Given the description of an element on the screen output the (x, y) to click on. 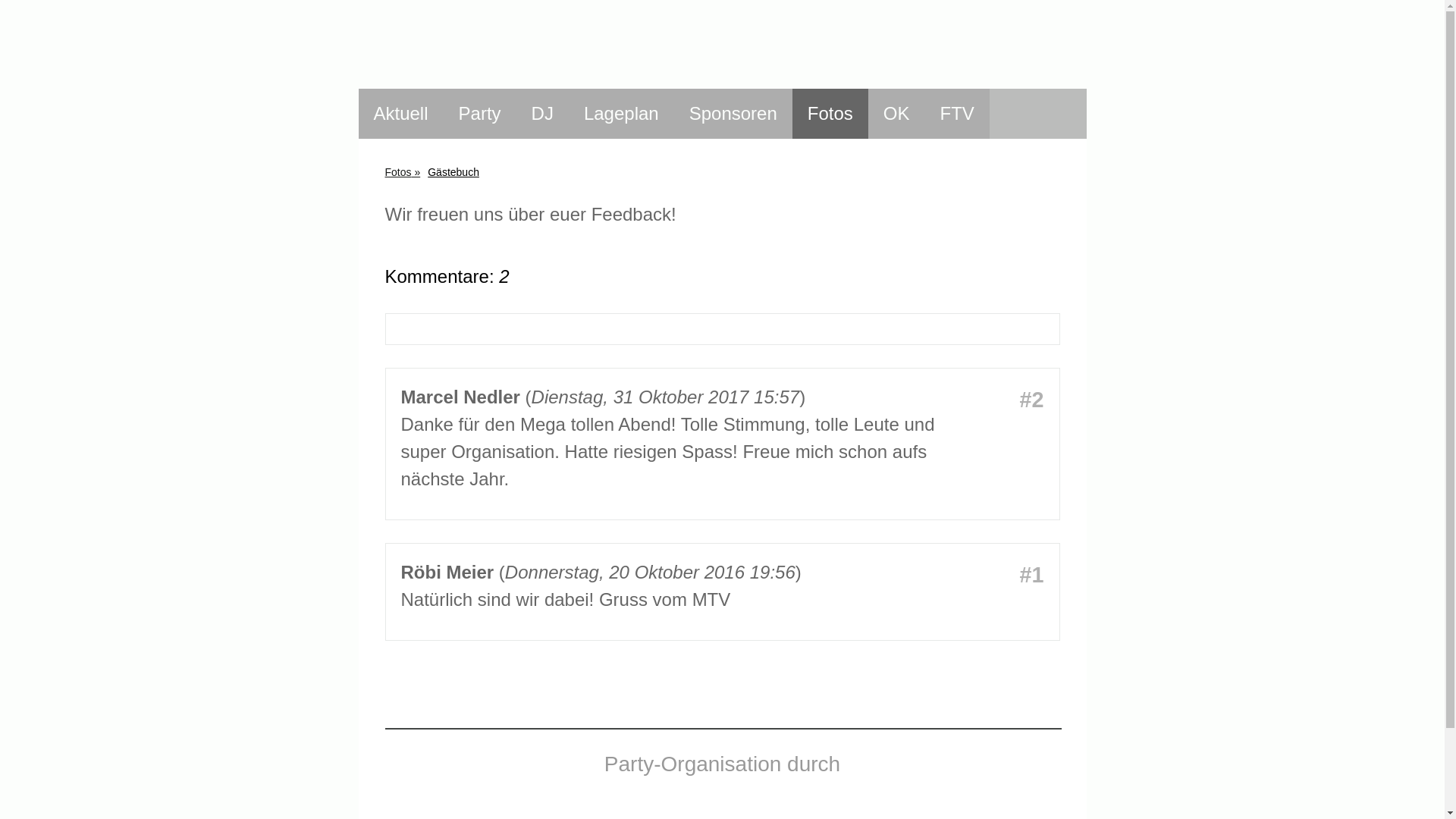
DJ Element type: text (542, 113)
Aktuell Element type: text (399, 113)
Fotos Element type: text (401, 171)
Fotos Element type: text (830, 113)
Sponsoren Element type: text (733, 113)
FTV Element type: text (956, 113)
OK Element type: text (896, 113)
Party Element type: text (479, 113)
Lageplan Element type: text (621, 113)
